Given the description of an element on the screen output the (x, y) to click on. 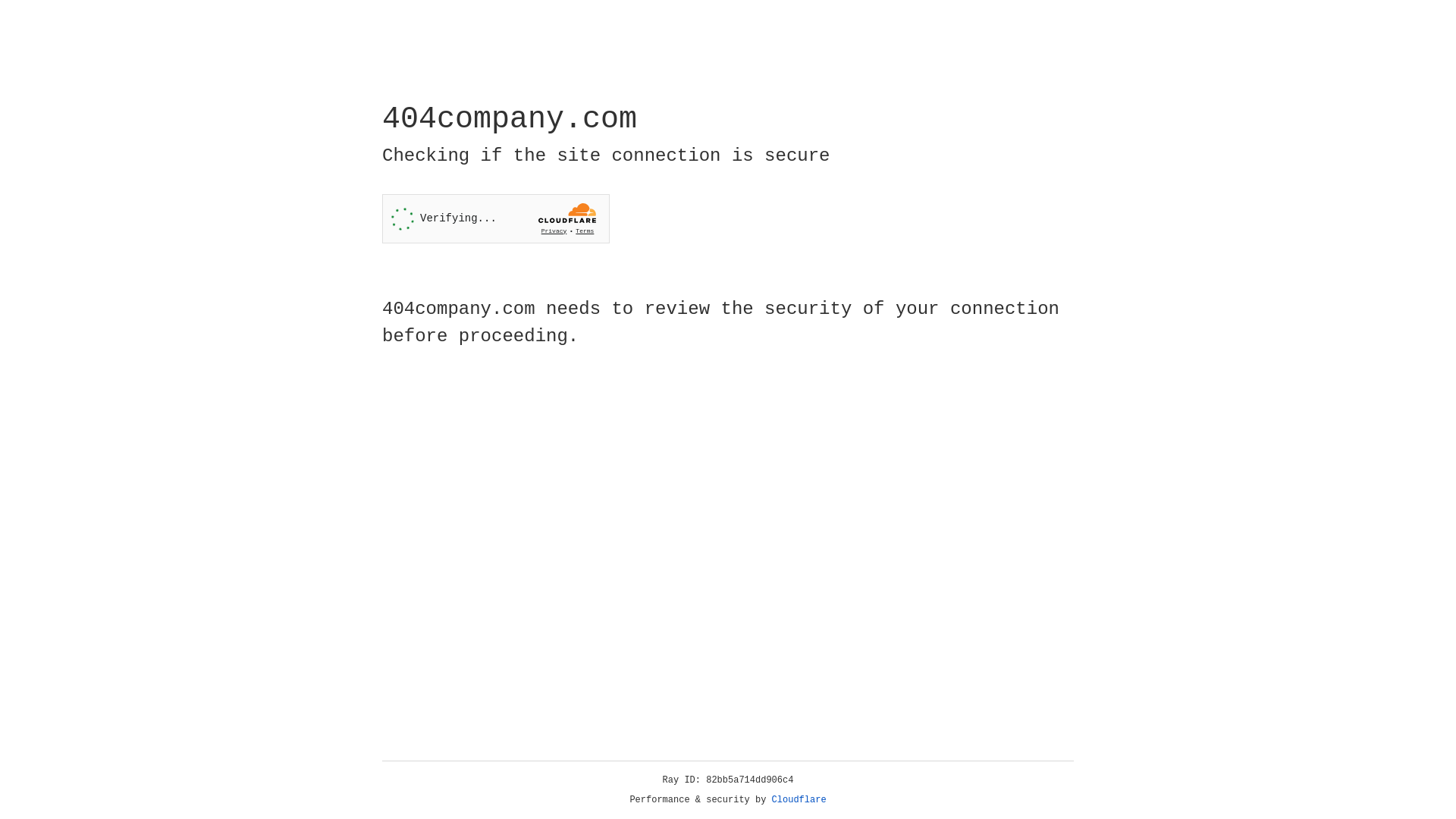
Widget containing a Cloudflare security challenge Element type: hover (495, 218)
Cloudflare Element type: text (798, 799)
